Given the description of an element on the screen output the (x, y) to click on. 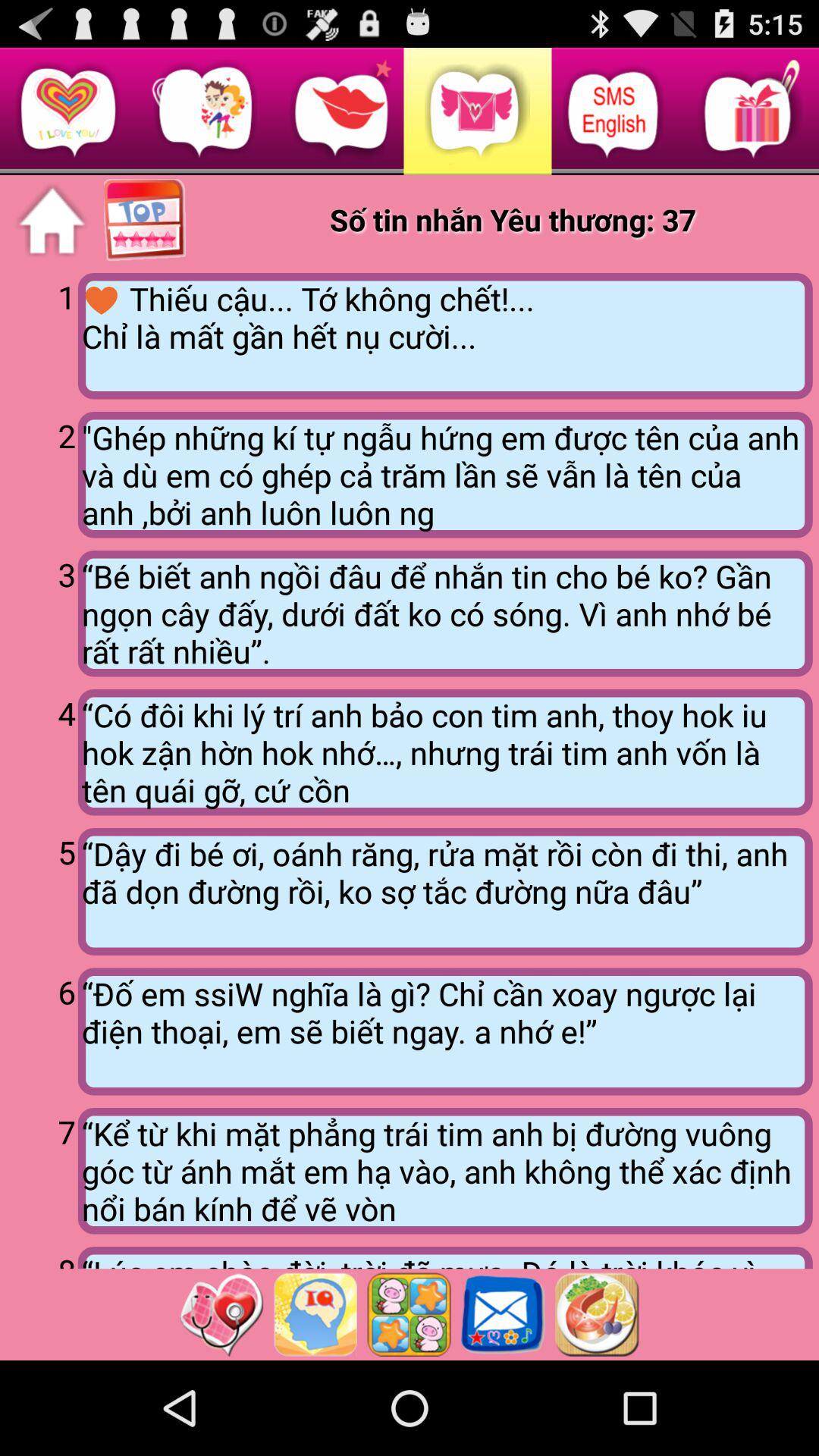
turn on item above the 8 app (41, 1168)
